Given the description of an element on the screen output the (x, y) to click on. 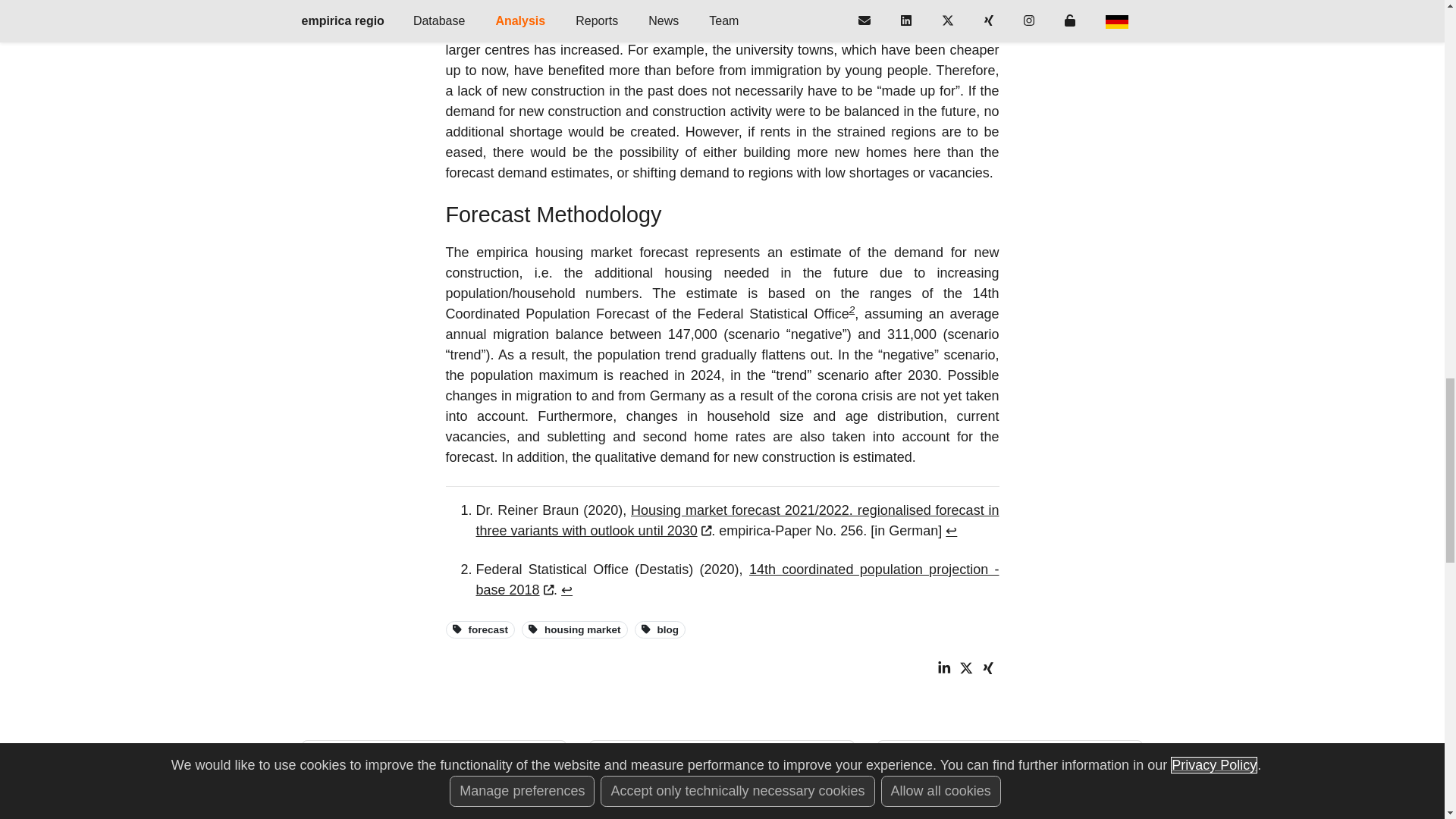
housing market (574, 629)
blog (659, 629)
14th coordinated population projection - base 2018  (737, 579)
forecast (480, 629)
